Given the description of an element on the screen output the (x, y) to click on. 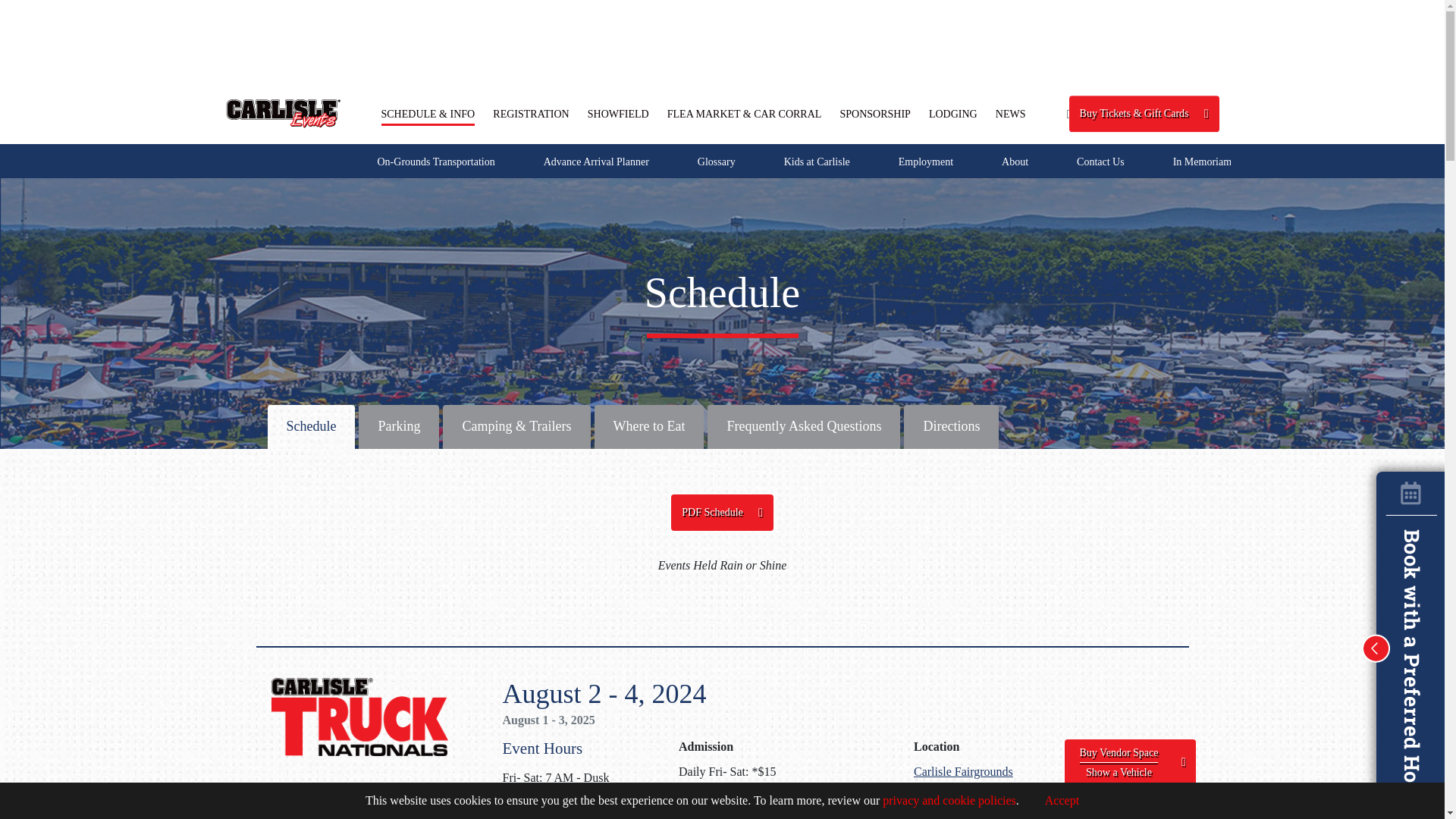
privacy and cookie policies (949, 799)
Carlisle Truck Nationals (359, 716)
Accept (1050, 799)
SHOWFIELD (618, 115)
3rd party ad content (721, 41)
Logo (282, 113)
REGISTRATION (531, 115)
